Given the description of an element on the screen output the (x, y) to click on. 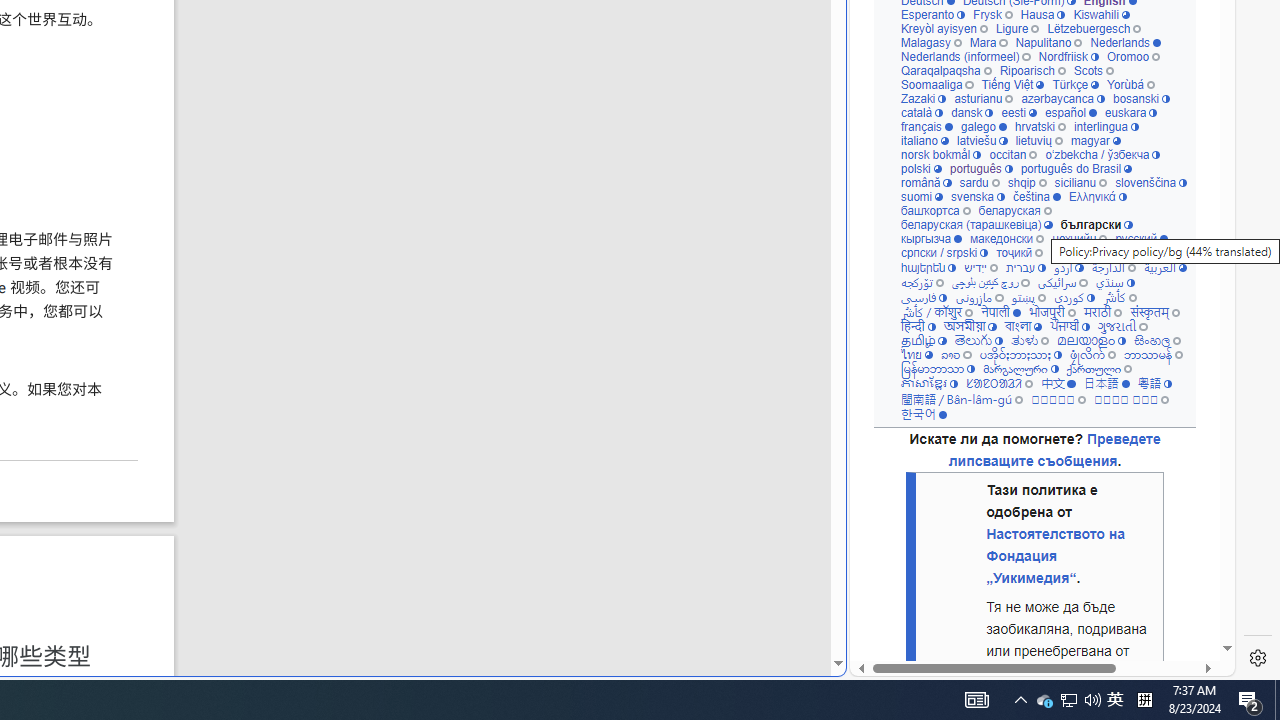
svenska (976, 195)
shqip (1027, 182)
asturianu (983, 97)
Hausa (1043, 14)
Hausa (1043, 14)
